Given the description of an element on the screen output the (x, y) to click on. 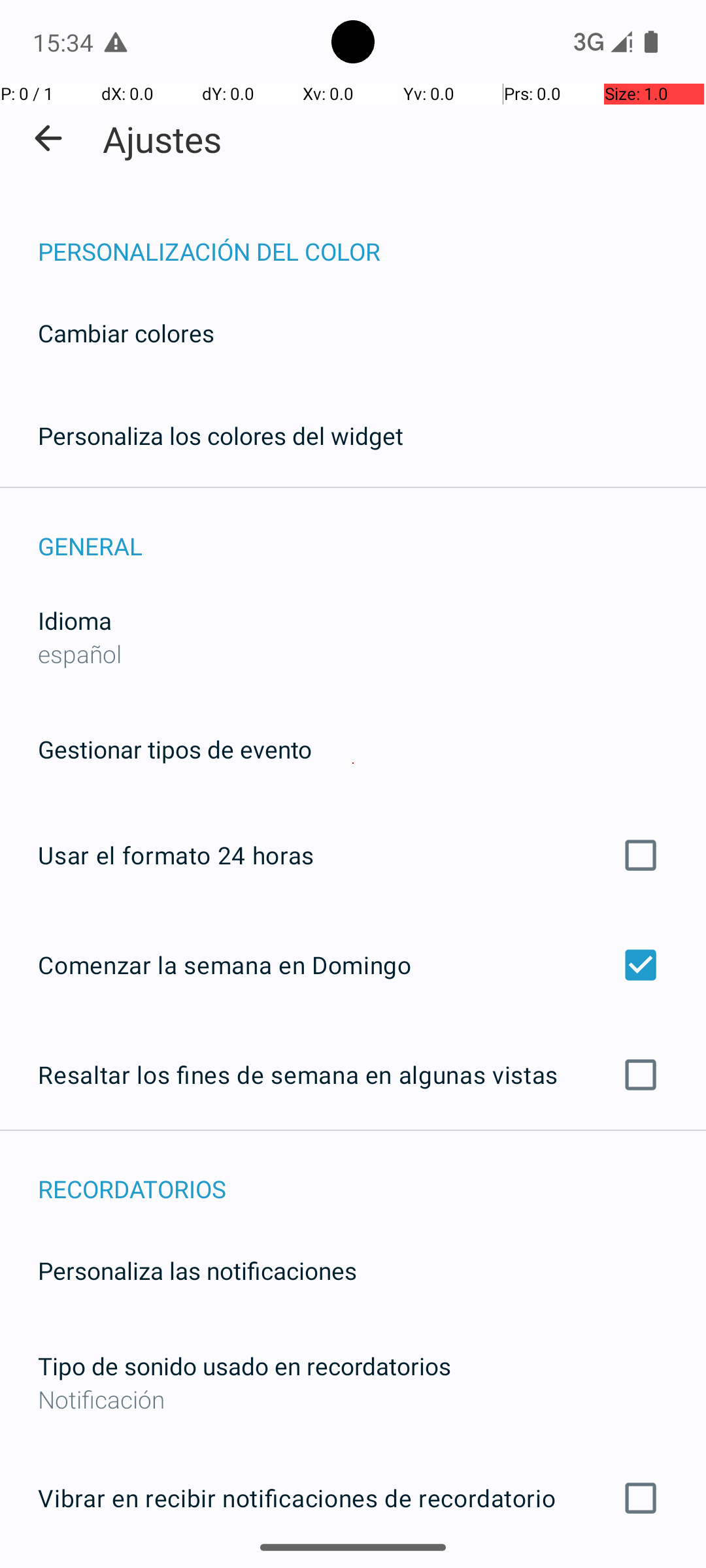
PERSONALIZACIÓN DEL COLOR Element type: android.widget.TextView (371, 237)
RECORDATORIOS Element type: android.widget.TextView (371, 1174)
Cambiar colores Element type: android.widget.TextView (125, 332)
Personaliza los colores del widget Element type: android.widget.TextView (220, 435)
Idioma Element type: android.widget.TextView (74, 620)
español Element type: android.widget.TextView (79, 653)
Usar el formato 24 horas Element type: android.widget.CheckBox (352, 855)
Comenzar la semana en Domingo Element type: android.widget.CheckBox (352, 964)
Resaltar los fines de semana en algunas vistas Element type: android.widget.CheckBox (352, 1074)
Personaliza las notificaciones Element type: android.widget.TextView (196, 1270)
Tipo de sonido usado en recordatorios Element type: android.widget.TextView (244, 1365)
Notificación Element type: android.widget.TextView (352, 1398)
Vibrar en recibir notificaciones de recordatorio Element type: android.widget.CheckBox (352, 1497)
Repetir recordatorios hasta ser descartados Element type: android.widget.CheckBox (352, 1567)
